Given the description of an element on the screen output the (x, y) to click on. 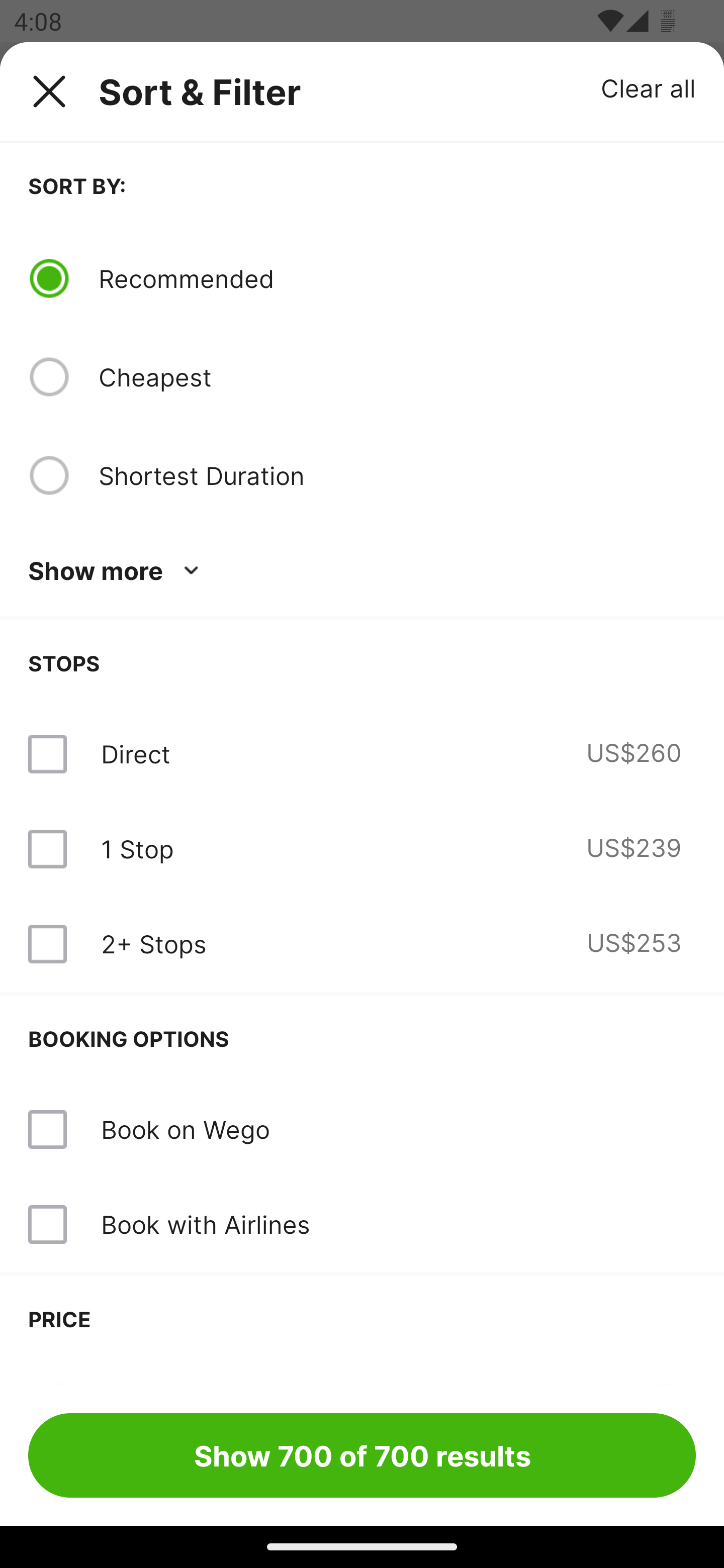
Clear all (648, 87)
Recommended  (396, 278)
Cheapest (396, 377)
Shortest Duration (396, 474)
Show more (116, 570)
Direct US$260 (362, 754)
Direct (135, 753)
1 Stop US$239 (362, 848)
1 Stop (136, 849)
2+ Stops US$253 (362, 943)
2+ Stops (153, 943)
Book on Wego (362, 1129)
Book on Wego (184, 1128)
Book with Airlines (362, 1224)
Book with Airlines (204, 1224)
Show 700 of 700 results (361, 1454)
